Given the description of an element on the screen output the (x, y) to click on. 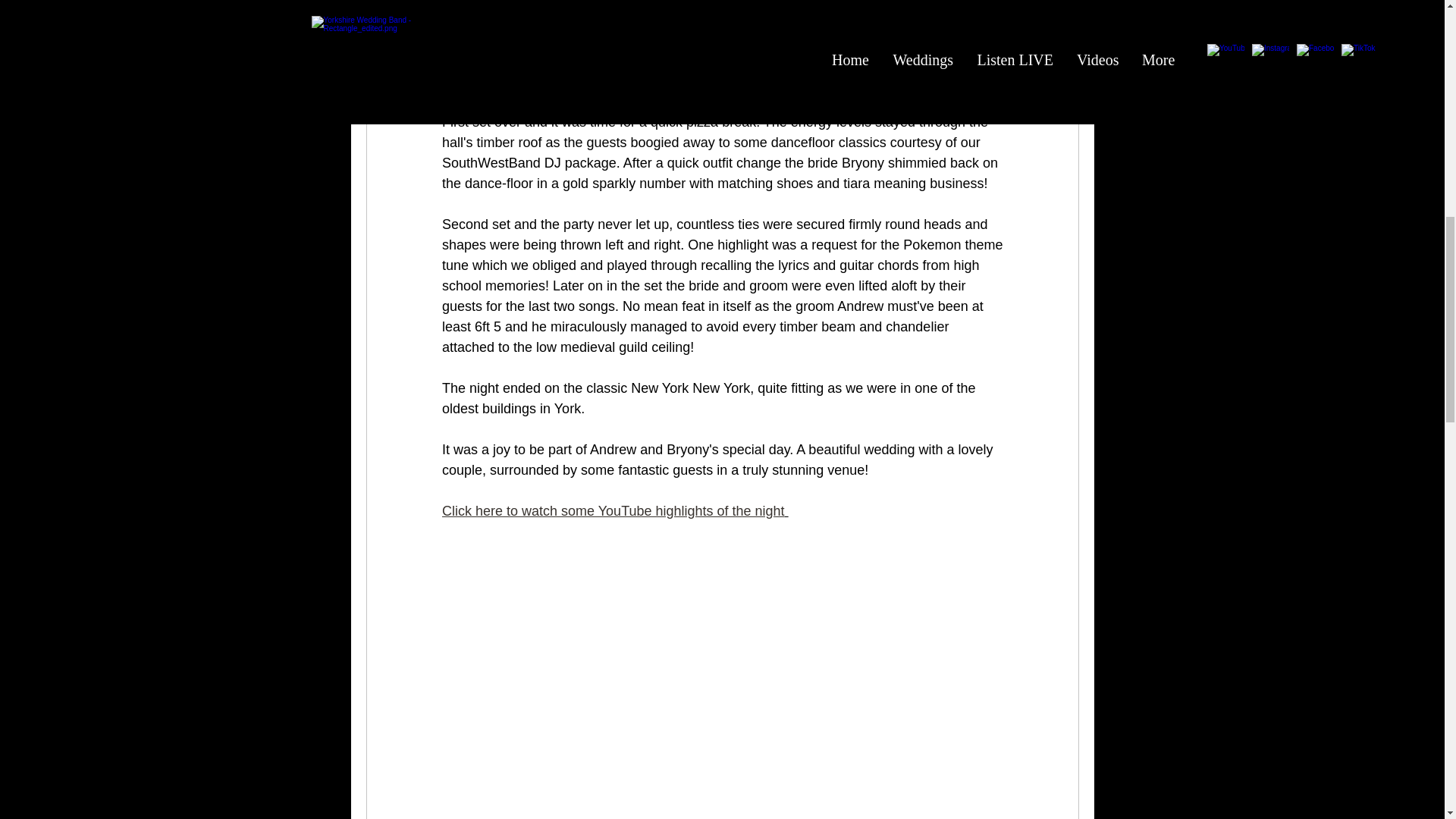
Click here to watch some YouTube highlights of the night (612, 510)
